Given the description of an element on the screen output the (x, y) to click on. 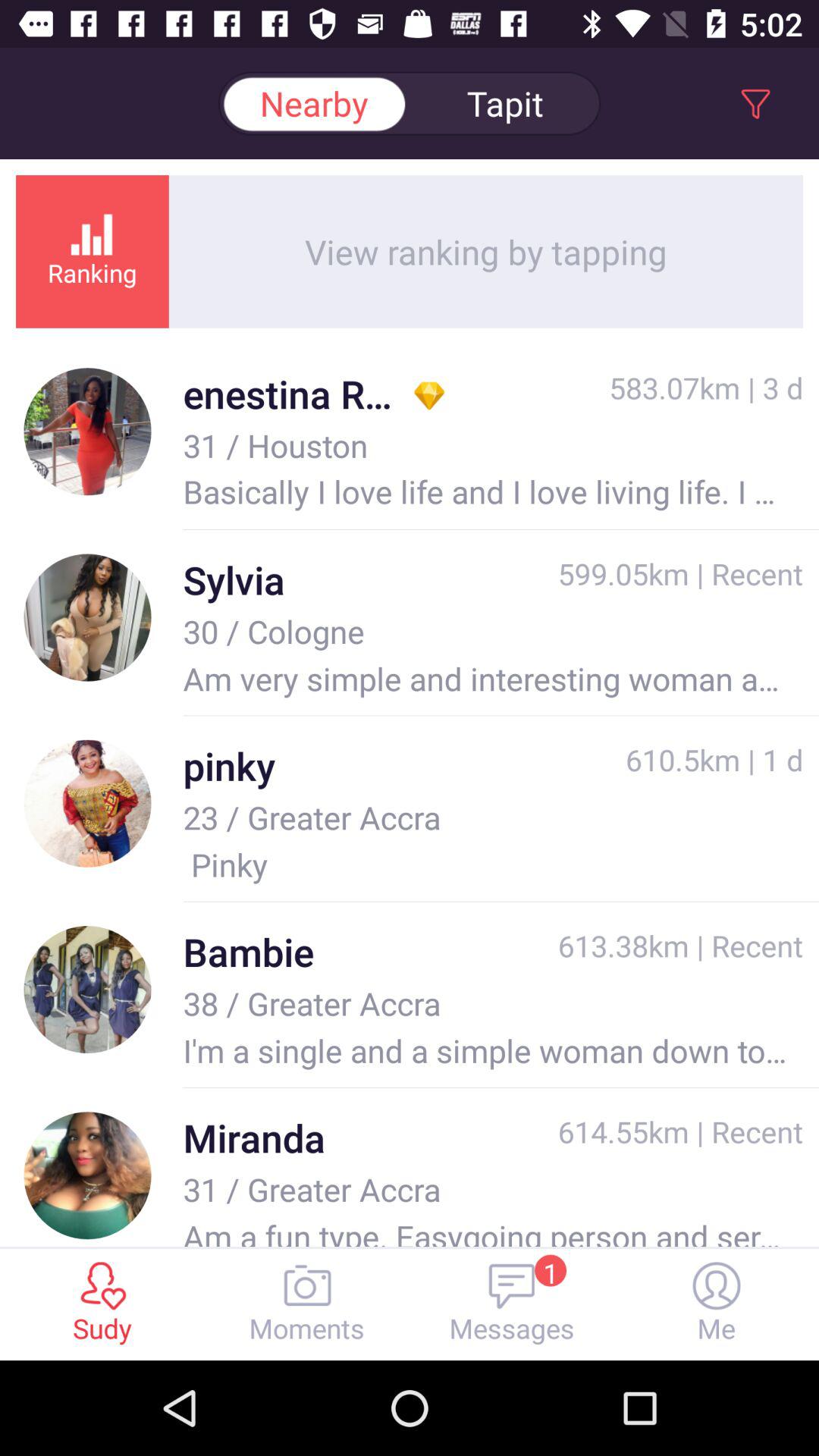
scroll until tapit icon (504, 103)
